Given the description of an element on the screen output the (x, y) to click on. 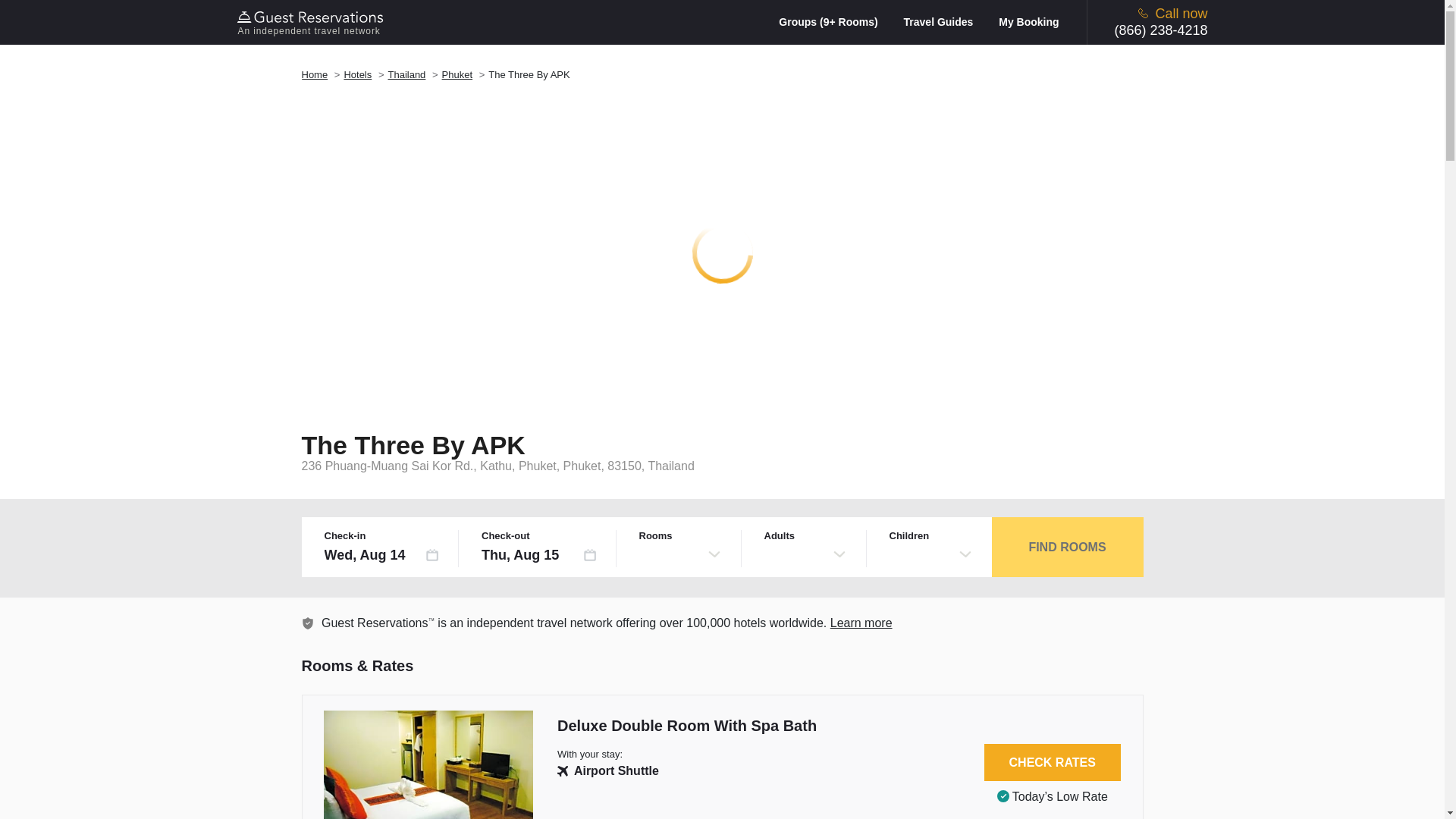
Travel Guides (949, 21)
Thu, Aug 15 (538, 554)
Learn more (860, 622)
Thailand (406, 74)
Hotels (357, 74)
Learn more (307, 623)
Home (315, 74)
Guest Reservations - Logo (311, 16)
Phuket (456, 74)
My Booking (1028, 21)
